Given the description of an element on the screen output the (x, y) to click on. 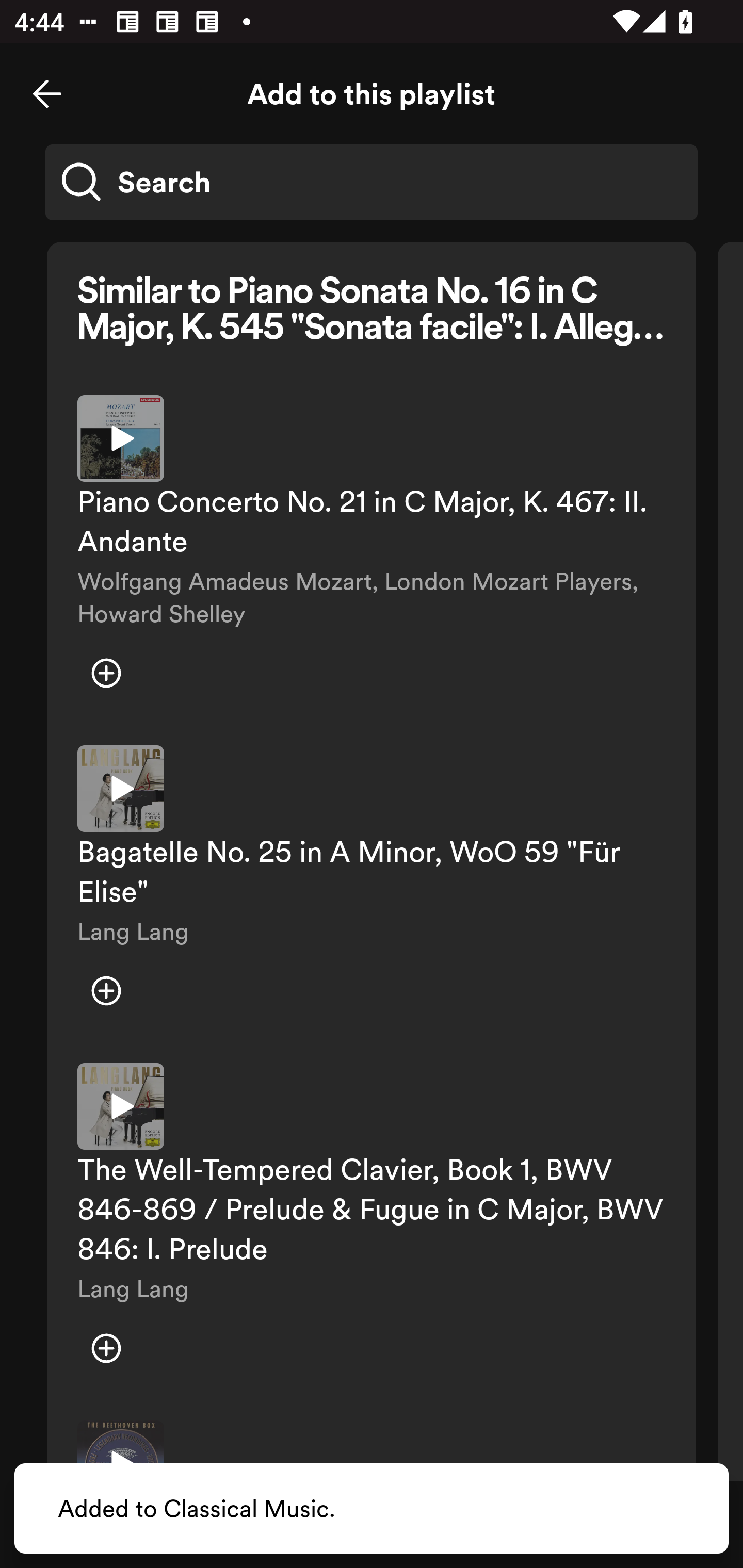
Close (46, 93)
Search (371, 181)
Play preview (120, 438)
Add item (106, 673)
Play preview (120, 788)
Add item (106, 990)
Play preview (120, 1106)
Add item (106, 1348)
